Given the description of an element on the screen output the (x, y) to click on. 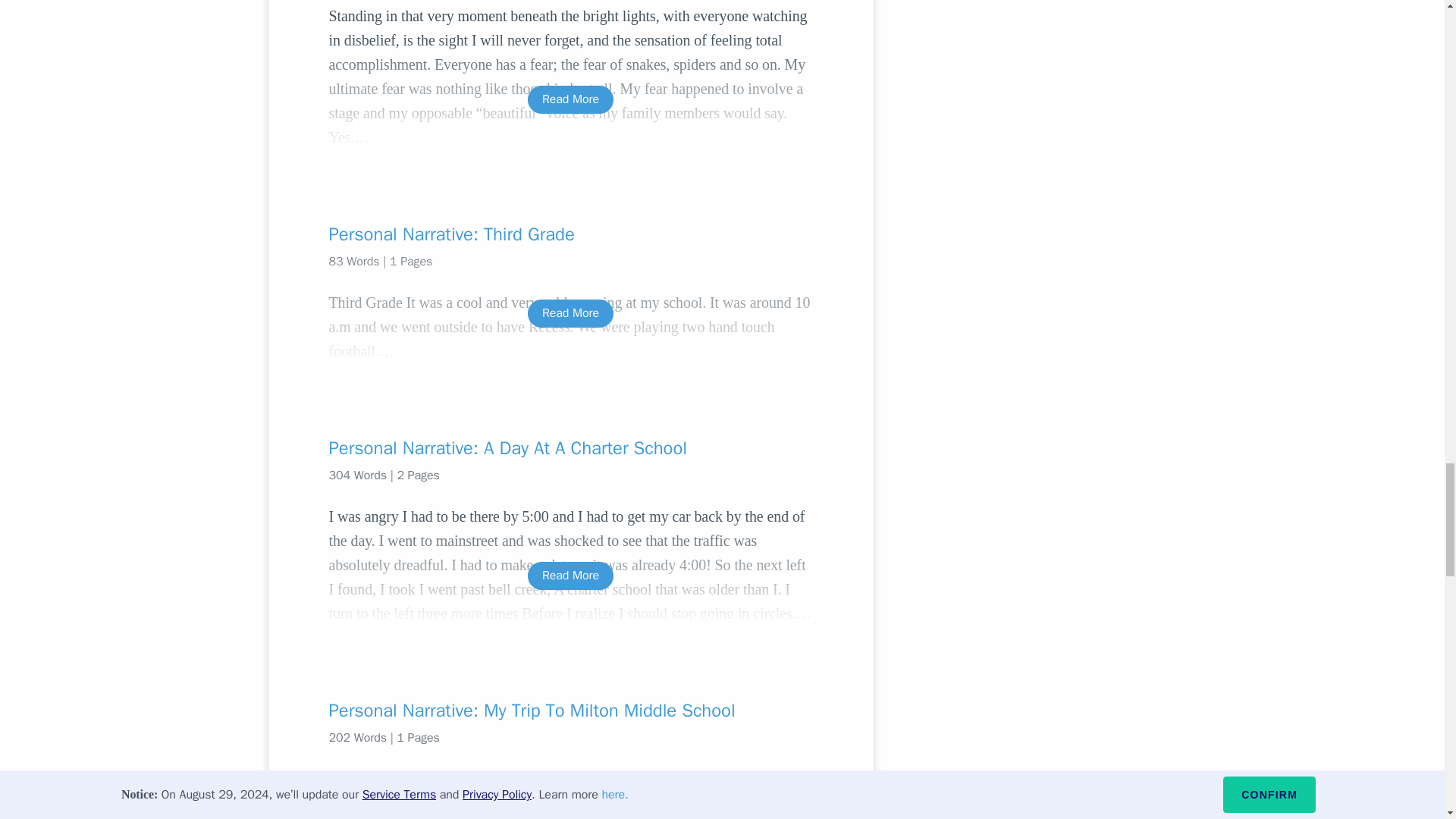
Personal Narrative: A Day At A Charter School (570, 447)
Personal Narrative: Third Grade (570, 233)
Personal Narrative: My Trip To Milton Middle School (570, 710)
Read More (569, 99)
Read More (569, 313)
Read More (569, 575)
